Given the description of an element on the screen output the (x, y) to click on. 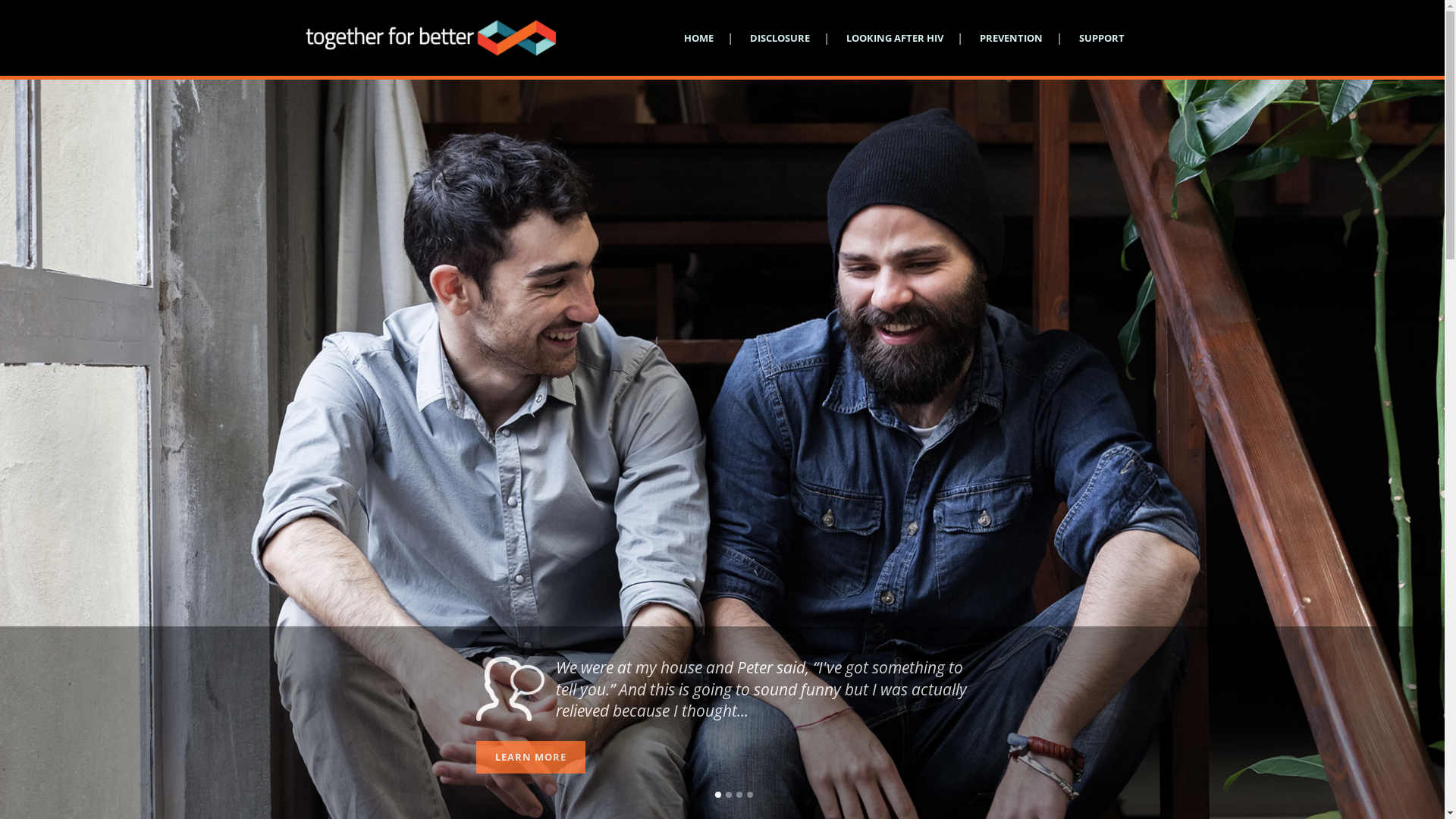
LEARN MORE Element type: text (530, 756)
DISCLOSURE Element type: text (779, 37)
HOME Element type: text (698, 37)
SUPPORT Element type: text (1101, 37)
PREVENTION Element type: text (1010, 37)
LOOKING AFTER HIV Element type: text (894, 37)
